Given the description of an element on the screen output the (x, y) to click on. 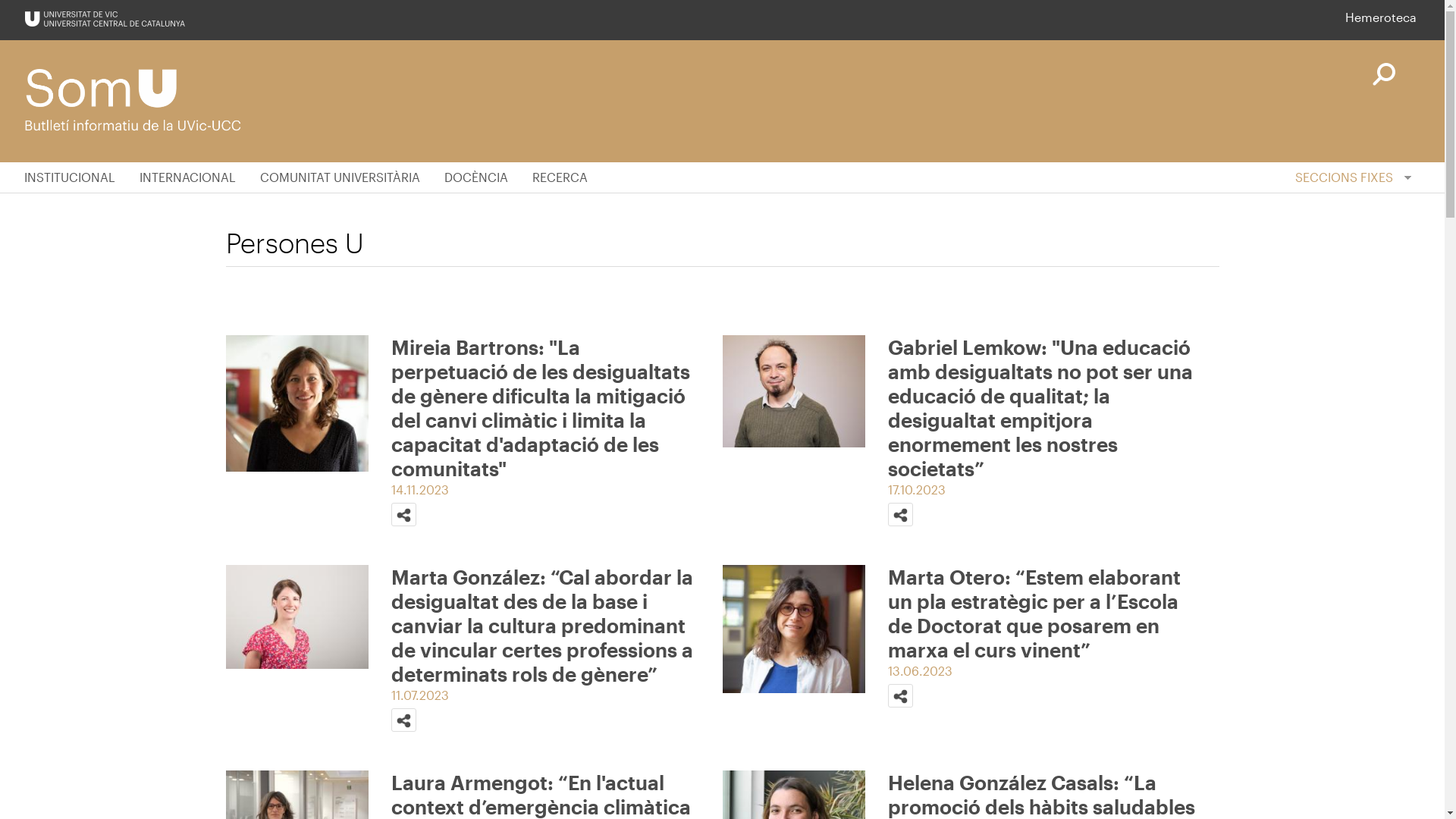
Skip to main content Element type: text (0, 0)
Hemeroteca Element type: text (1380, 16)
INSTITUCIONAL Element type: text (75, 177)
RECERCA Element type: text (559, 177)
www.uvic-ucc.cat Element type: hover (104, 18)
INTERNACIONAL Element type: text (187, 177)
